Given the description of an element on the screen output the (x, y) to click on. 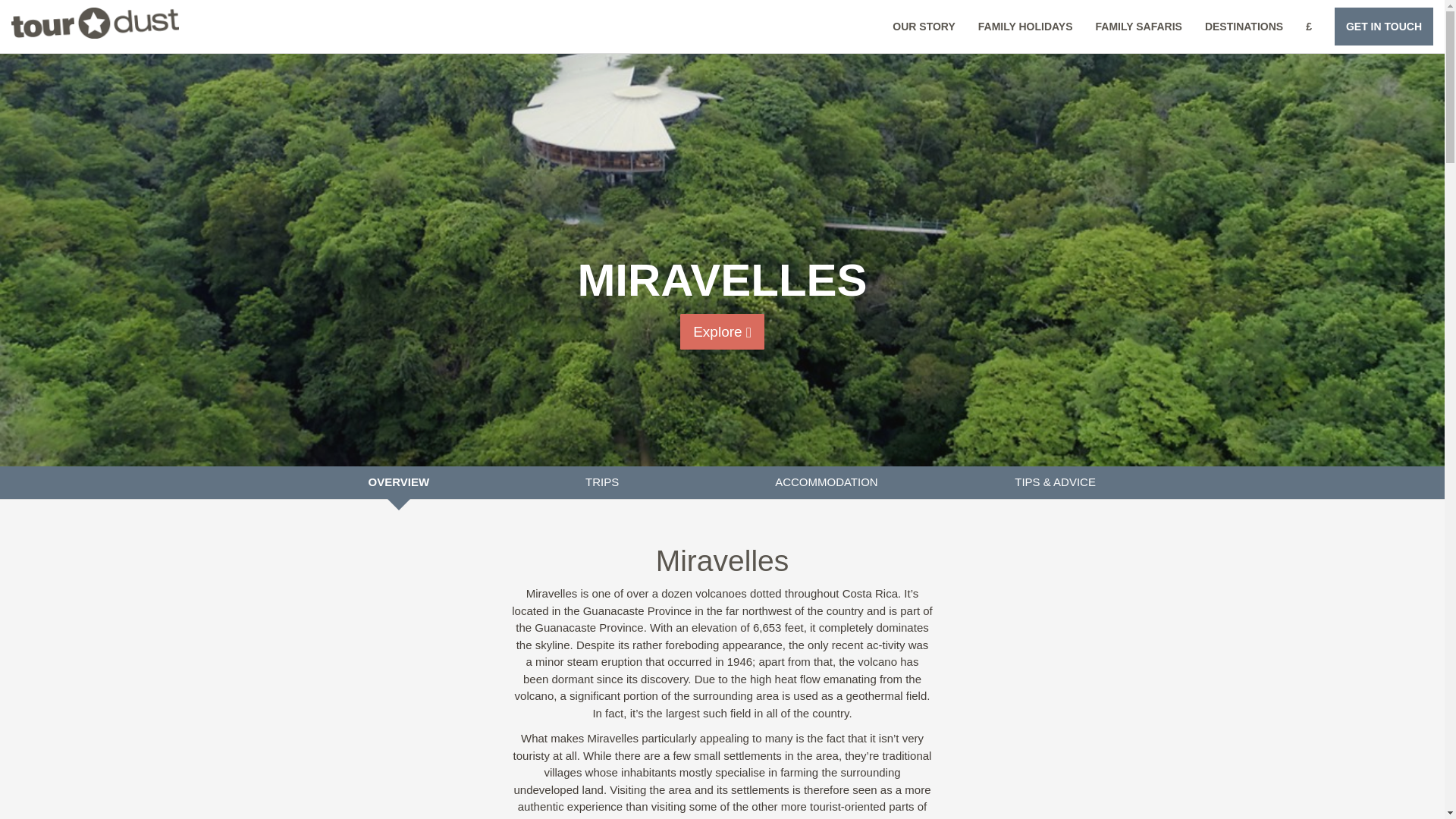
OUR STORY (923, 26)
FAMILY SAFARIS (1138, 26)
FAMILY HOLIDAYS (1025, 26)
DESTINATIONS (1243, 26)
